Given the description of an element on the screen output the (x, y) to click on. 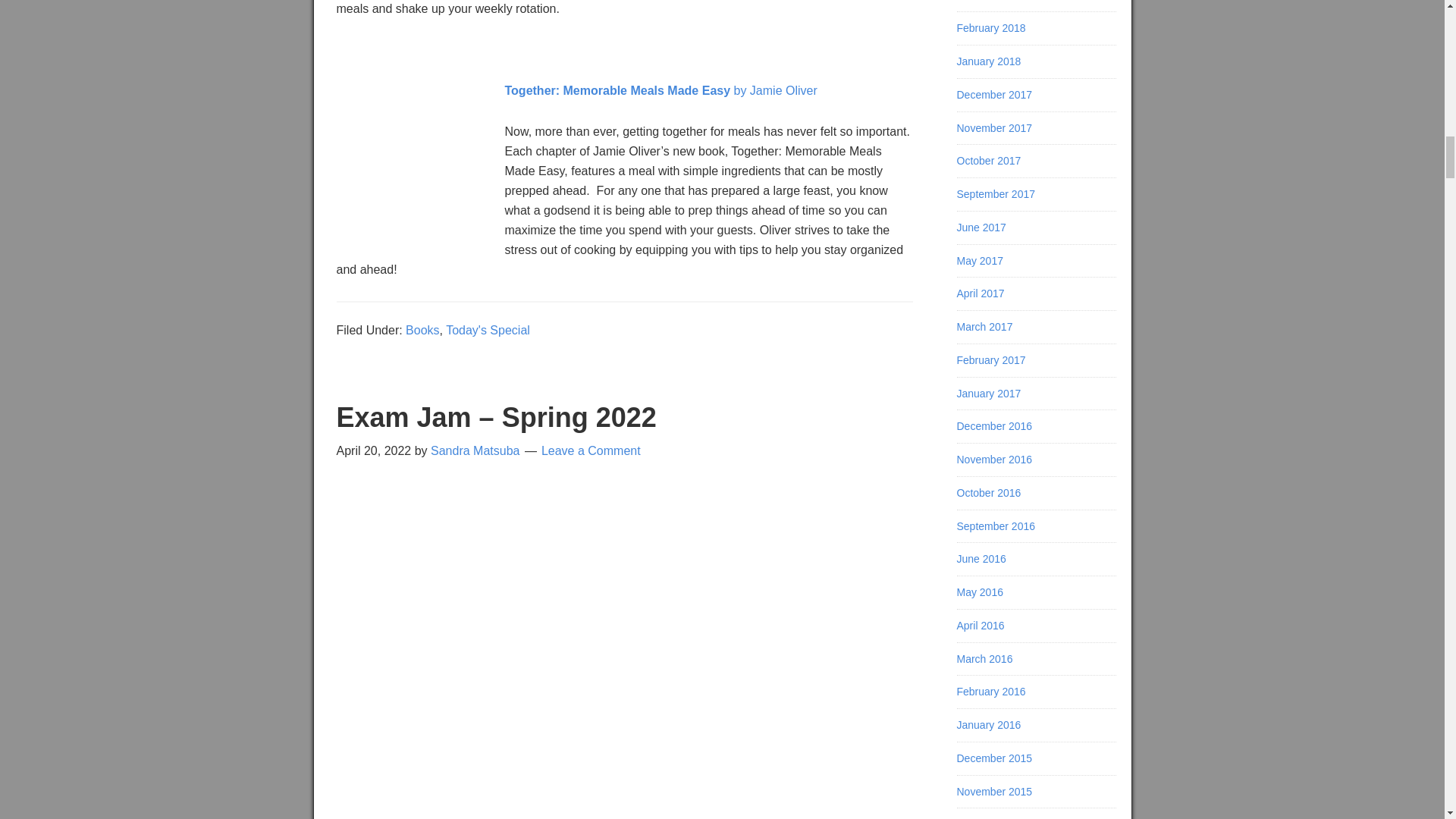
Leave a Comment (590, 450)
Books (422, 329)
Today's Special (487, 329)
Sandra Matsuba (474, 450)
Together: Memorable Meals Made Easy by Jamie Oliver (660, 90)
